Given the description of an element on the screen output the (x, y) to click on. 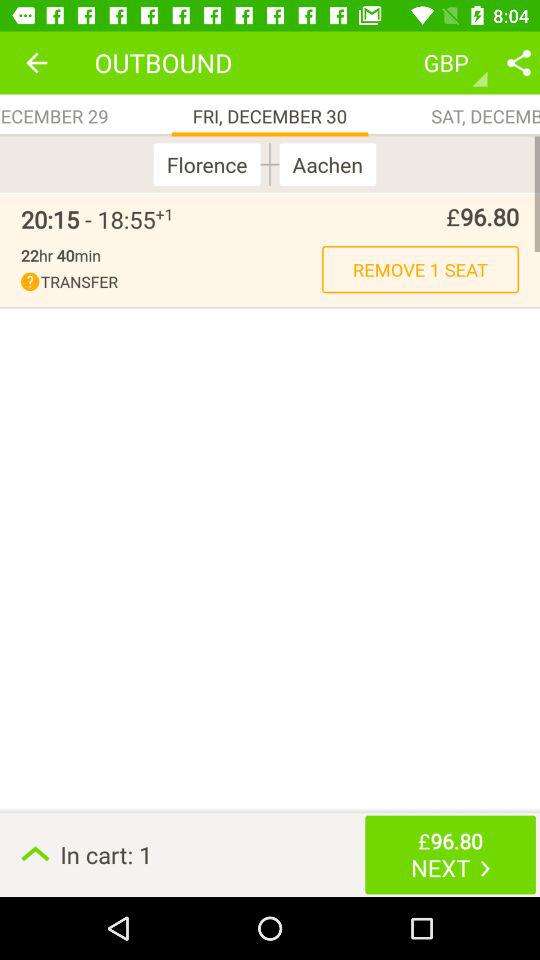
share (519, 62)
